Given the description of an element on the screen output the (x, y) to click on. 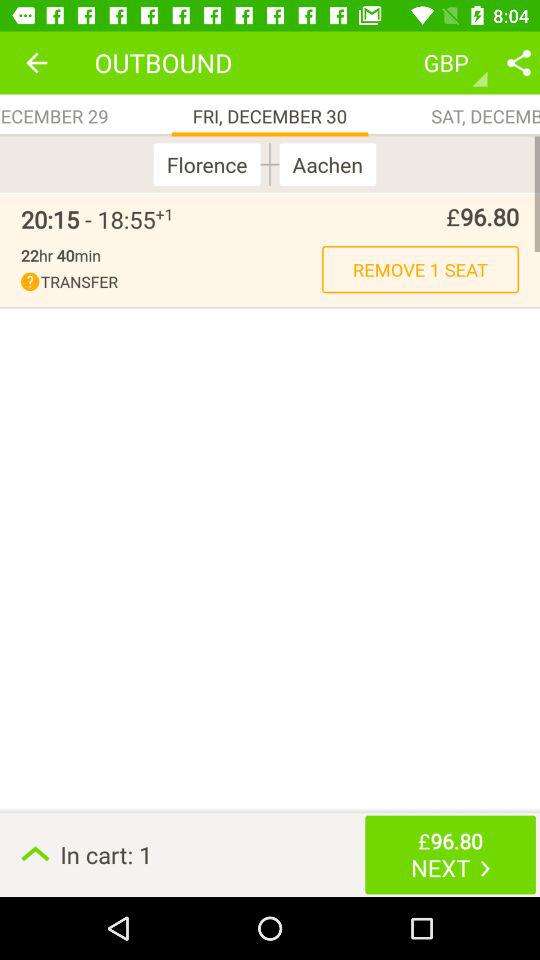
share (519, 62)
